Given the description of an element on the screen output the (x, y) to click on. 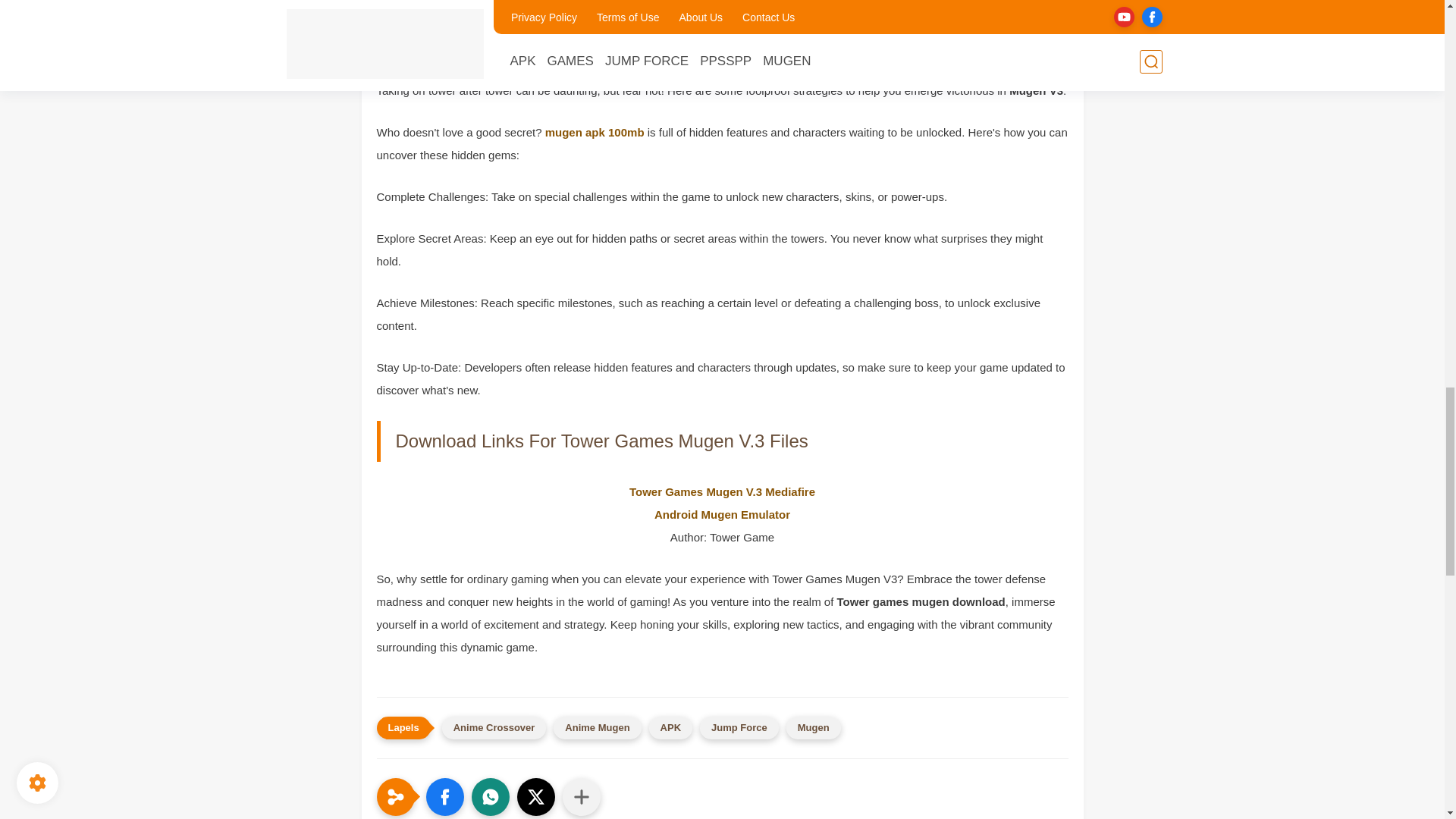
Tower Games Mugen V.3 Mediafire (721, 491)
mugen apk 100mb (594, 132)
APK (671, 727)
Anime Mugen (596, 727)
Anime Crossover (494, 727)
Anime Mugen (596, 727)
Jump Force (739, 727)
Android Mugen Emulator (721, 513)
Anime Crossover (494, 727)
Mugen (813, 727)
